Given the description of an element on the screen output the (x, y) to click on. 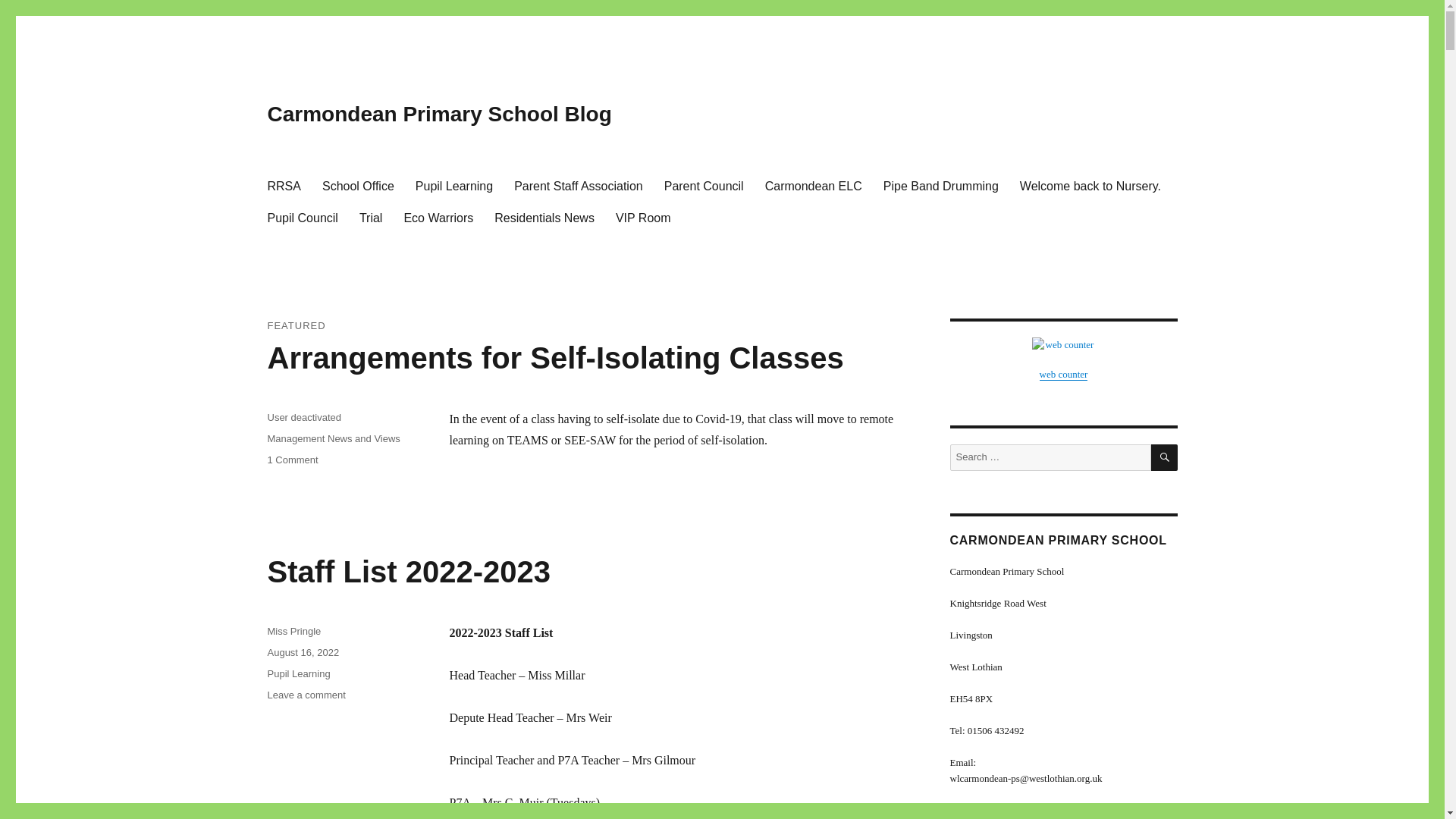
Parent Council (703, 185)
Pupil Learning (291, 460)
Eco Warriors (453, 185)
Pipe Band Drumming (438, 217)
School Office (940, 185)
RRSA (357, 185)
Arrangements for Self-Isolating Classes (283, 185)
Miss Pringle (554, 357)
Staff List 2022-2023 (293, 631)
